Given the description of an element on the screen output the (x, y) to click on. 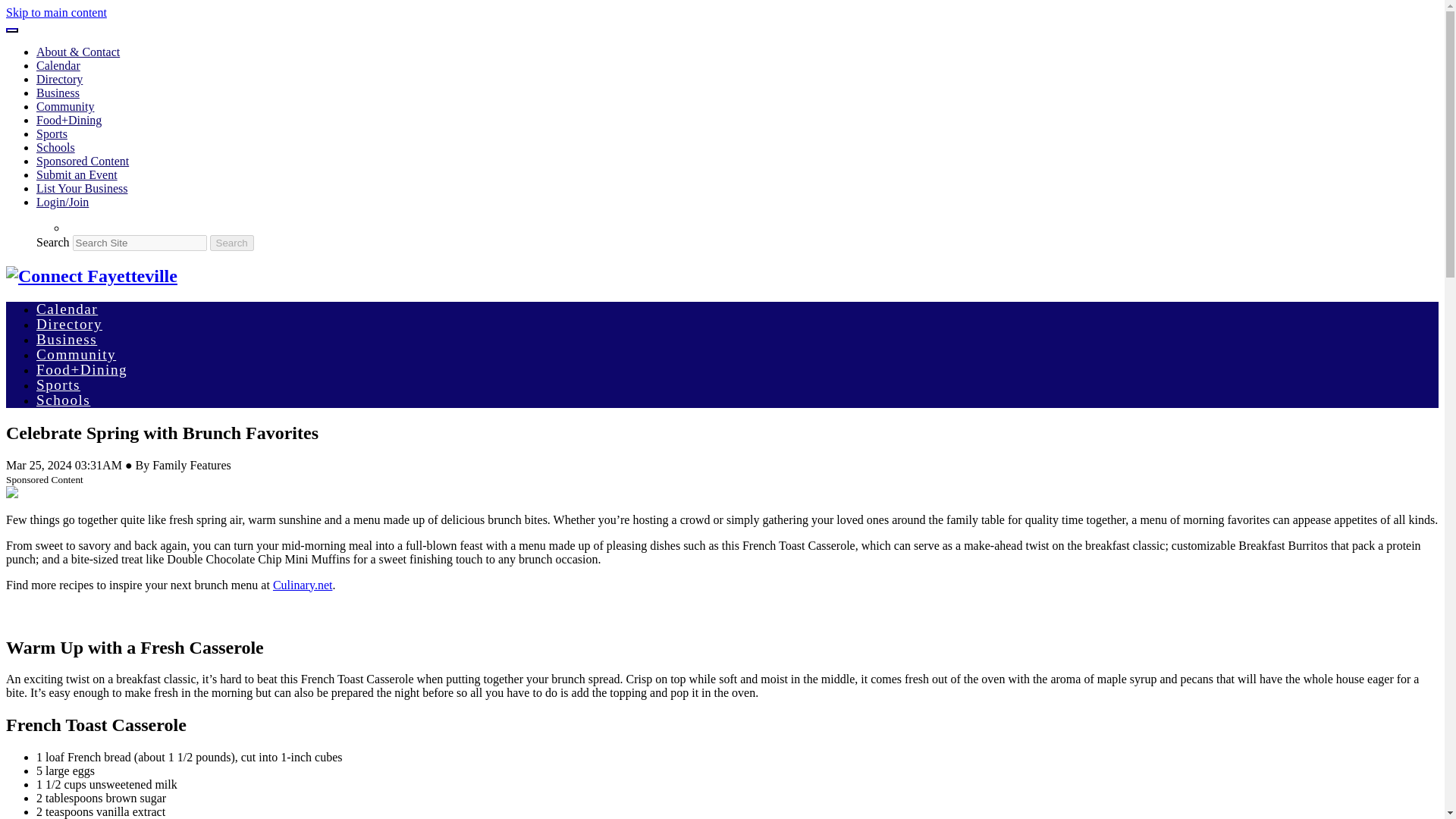
Schools (63, 399)
Business (66, 339)
Community (65, 106)
Directory (68, 324)
Search (231, 242)
List Your Business (82, 187)
Business (58, 92)
Directory (59, 78)
Submit an Event (76, 174)
Calendar (58, 65)
Calendar (66, 308)
Schools (55, 146)
Community (76, 354)
Culinary.net (303, 584)
Sports (58, 384)
